Given the description of an element on the screen output the (x, y) to click on. 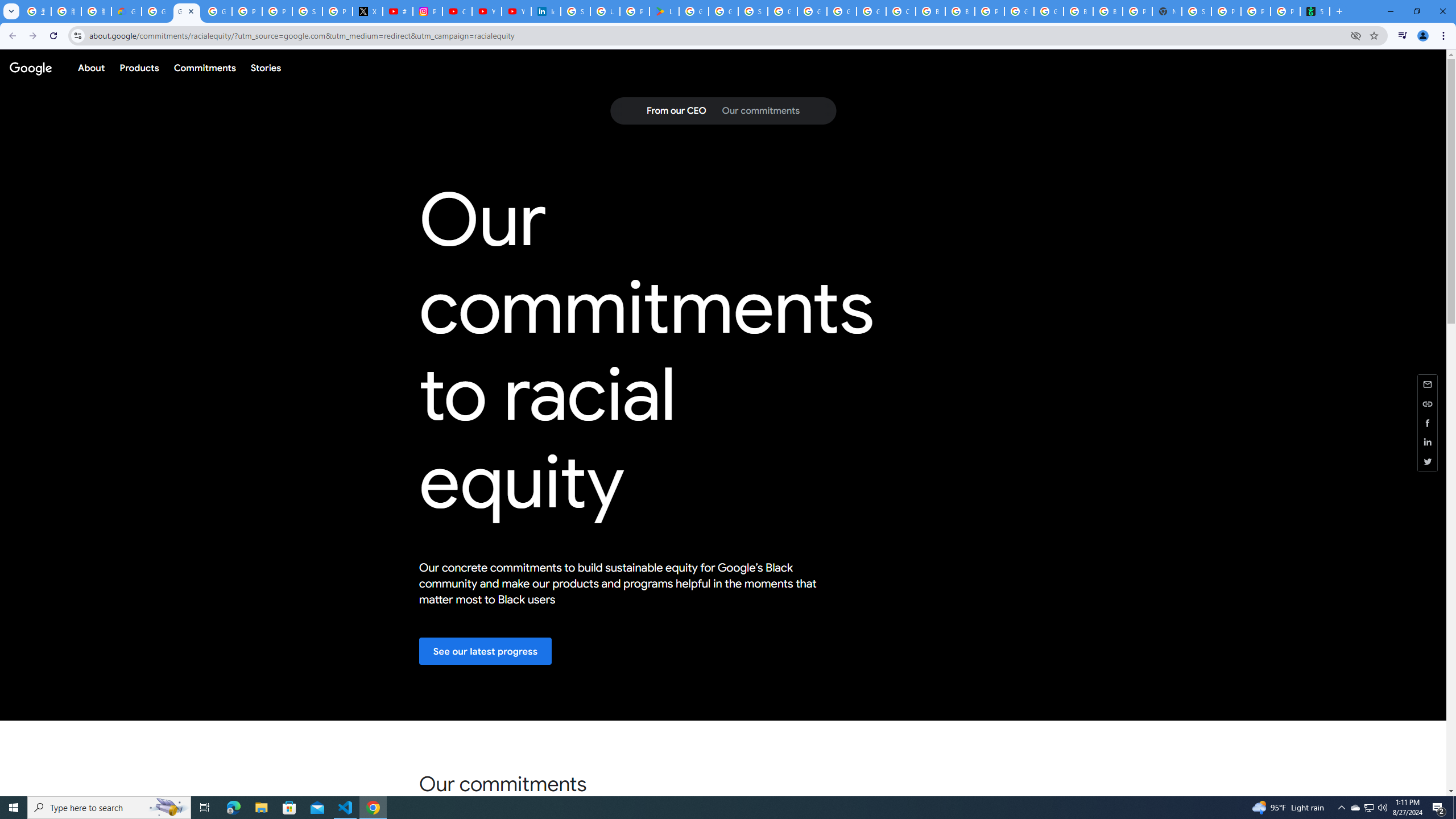
Sign in - Google Accounts (575, 11)
Browse Chrome as a guest - Computer - Google Chrome Help (1107, 11)
Google Cloud Platform (1018, 11)
Our commitments: Jump to page section (760, 110)
From our CEO: Jump to page section (676, 110)
About (90, 67)
Browse Chrome as a guest - Computer - Google Chrome Help (959, 11)
